Given the description of an element on the screen output the (x, y) to click on. 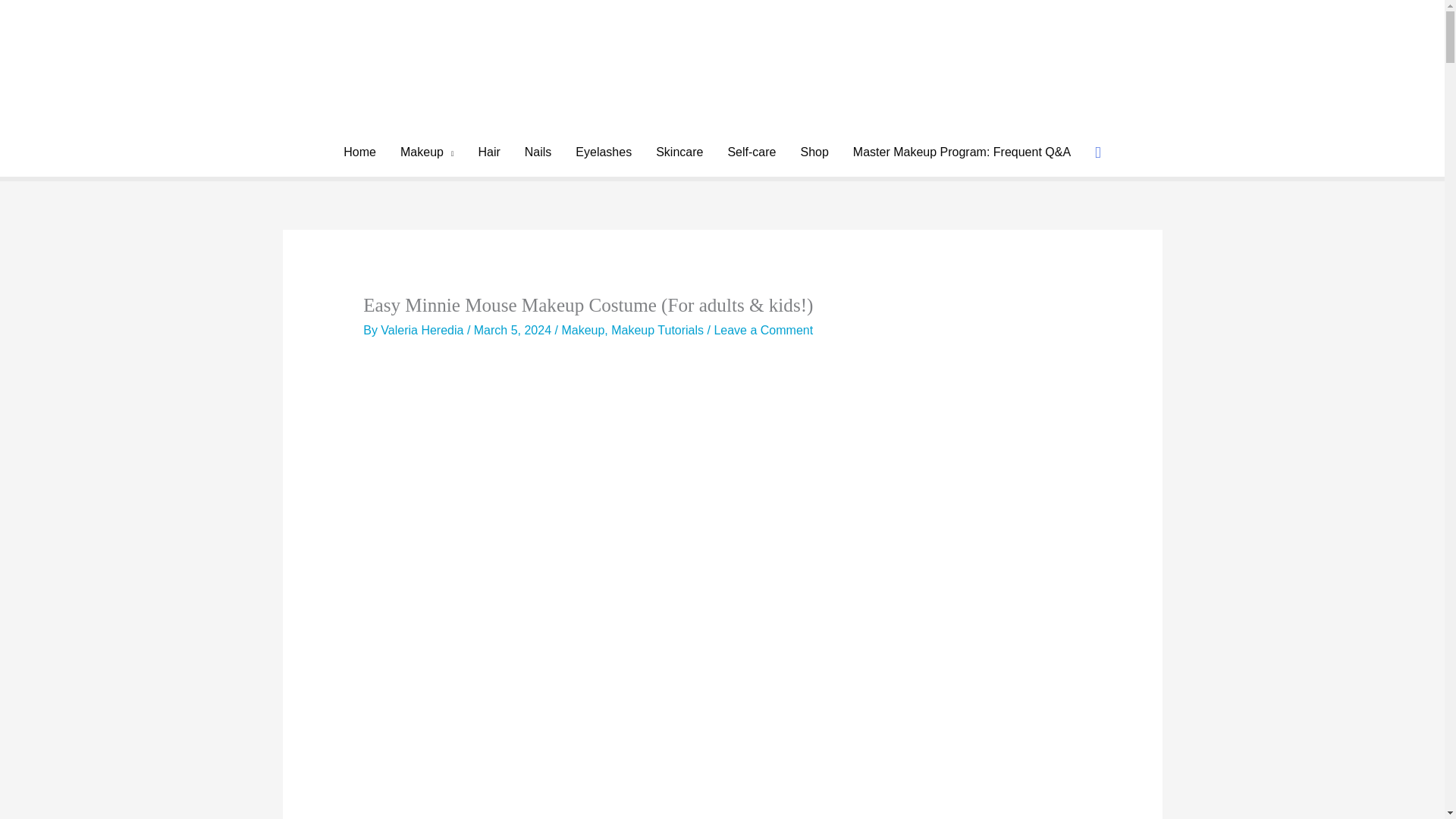
Self-care (750, 151)
View all posts by Valeria Heredia (423, 329)
Makeup (426, 151)
Makeup (582, 329)
Home (359, 151)
Leave a Comment (762, 329)
Valeria Heredia (423, 329)
Makeup Tutorials (657, 329)
Nails (538, 151)
Skincare (678, 151)
Hair (488, 151)
Eyelashes (603, 151)
Shop (813, 151)
